Given the description of an element on the screen output the (x, y) to click on. 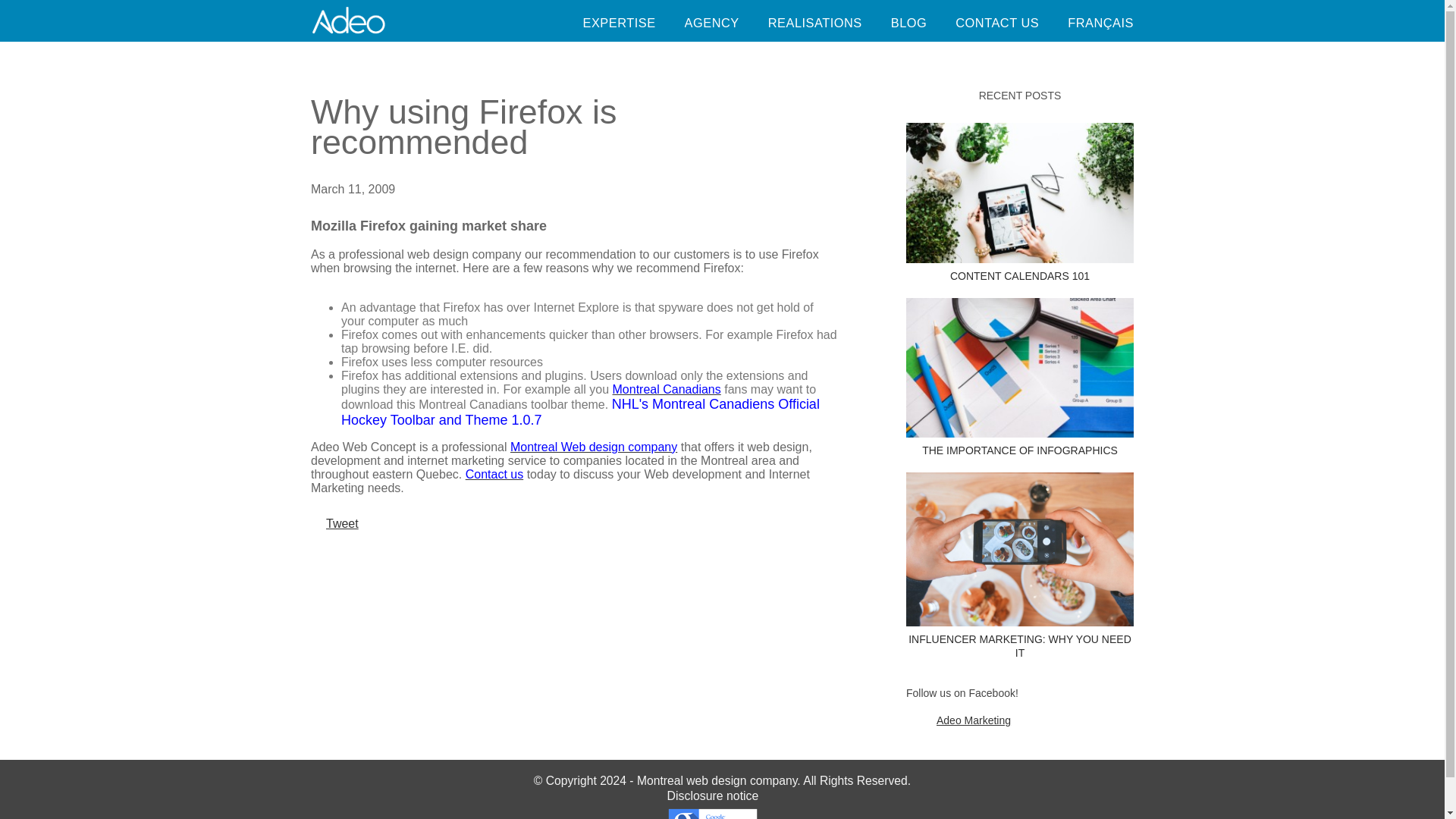
REALISATIONS (814, 22)
AGENCY (711, 22)
EXPERTISE (618, 22)
